Given the description of an element on the screen output the (x, y) to click on. 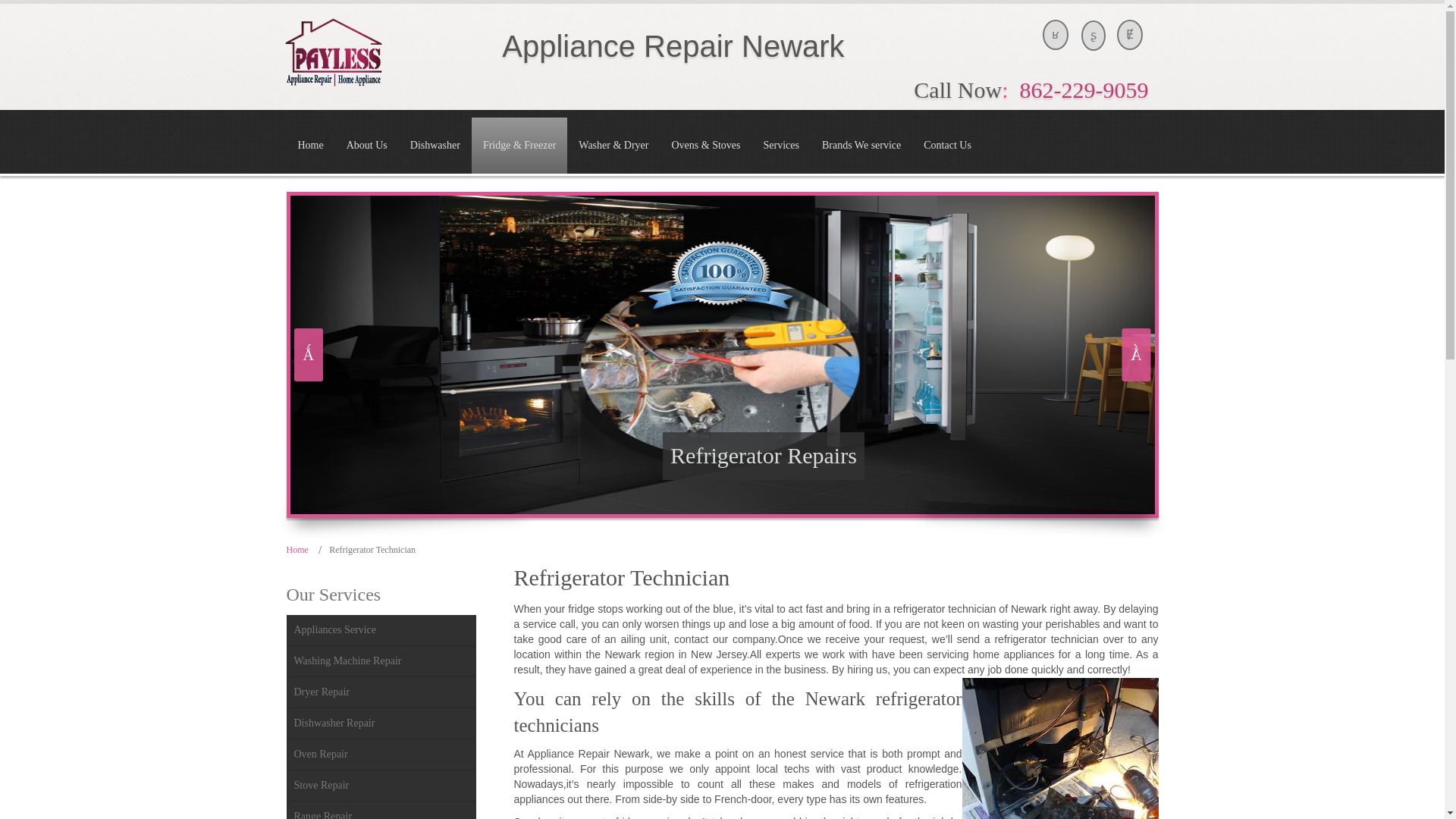
862-229-9059 (1083, 89)
Dishwasher (434, 145)
Brands We service (861, 145)
About Us (366, 145)
Services (780, 145)
